Given the description of an element on the screen output the (x, y) to click on. 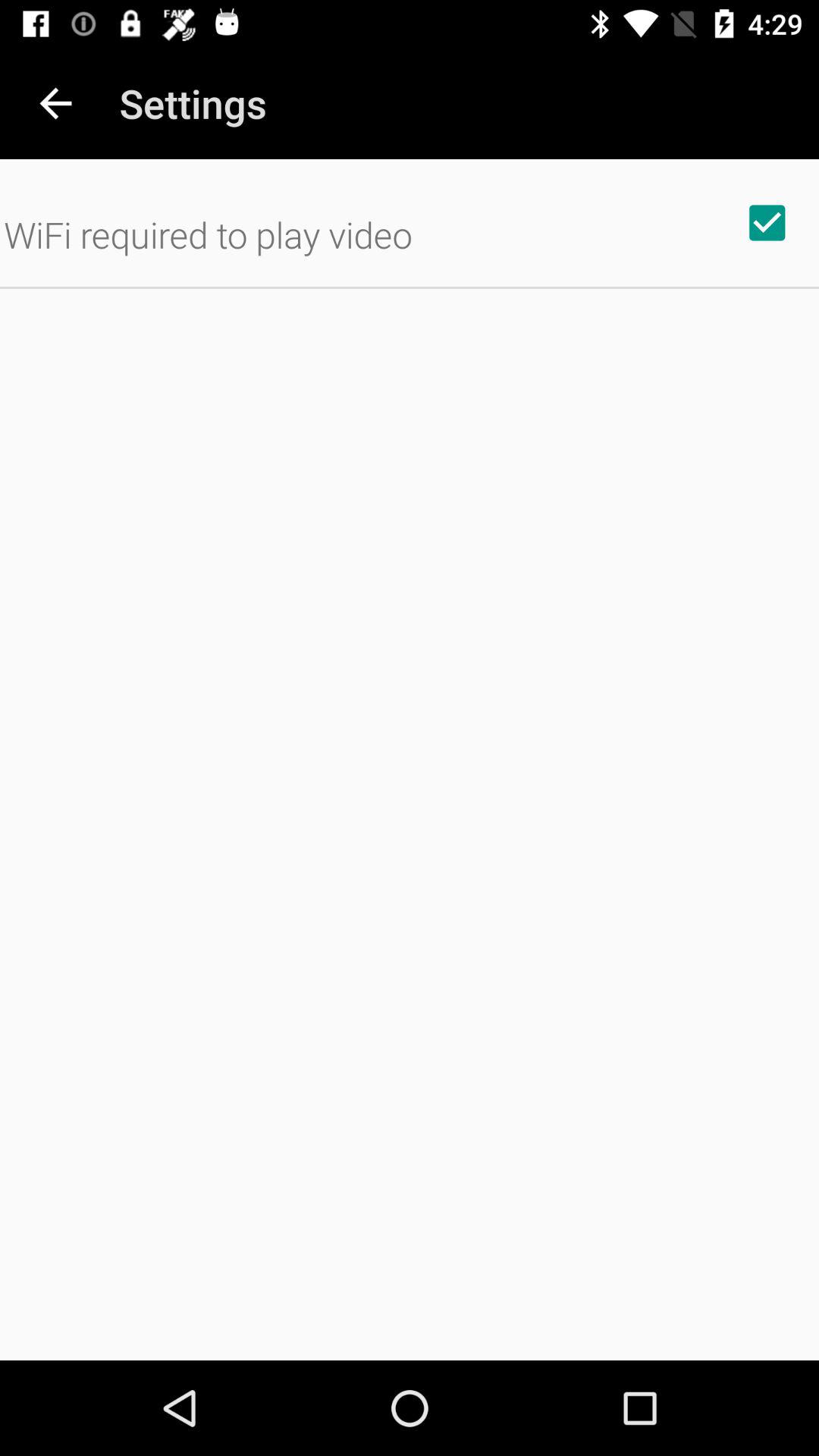
launch icon to the left of the settings app (55, 103)
